Given the description of an element on the screen output the (x, y) to click on. 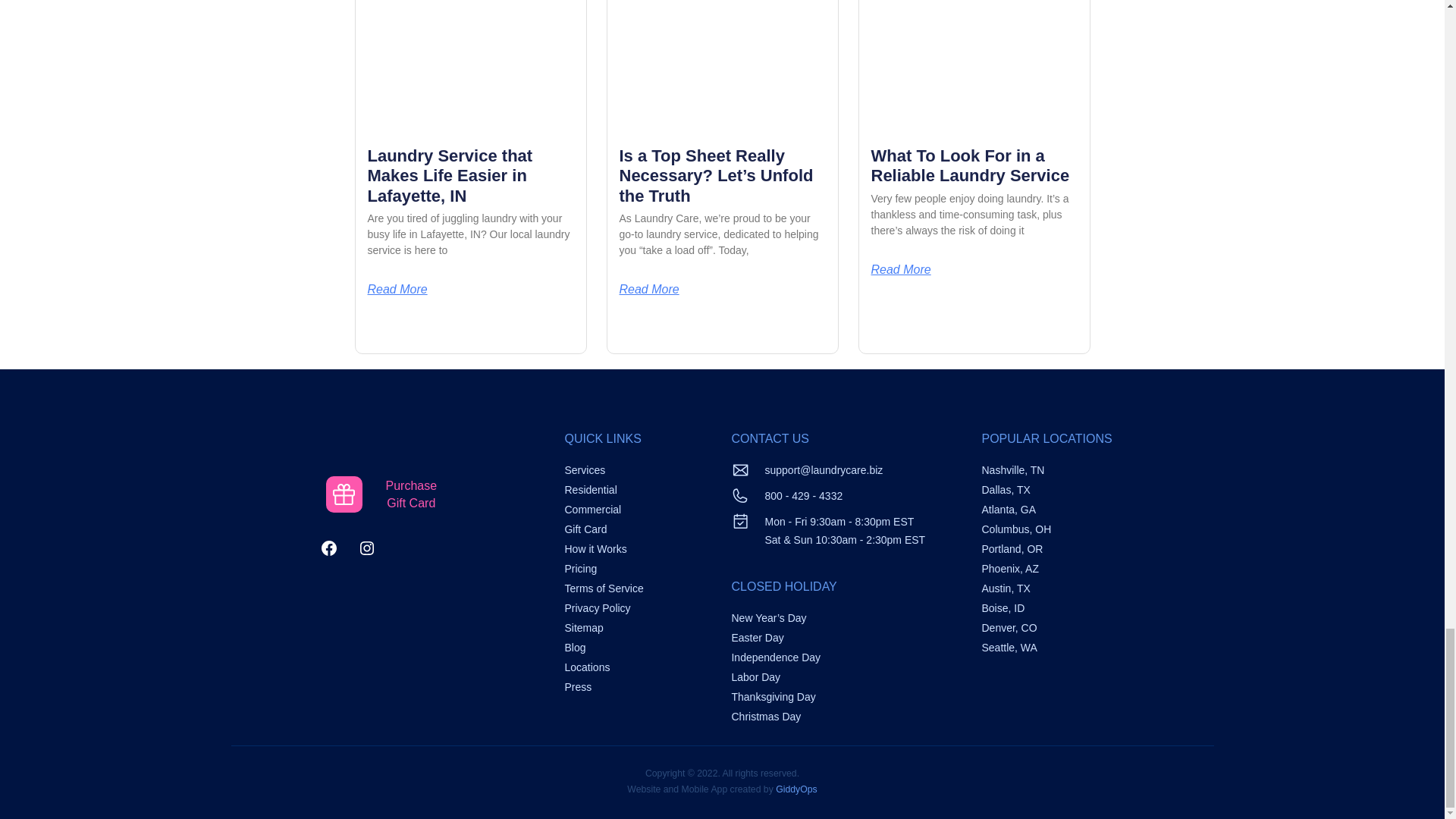
Laundry Service that Makes Life Easier in Lafayette, IN (449, 175)
Residential (589, 490)
Read More (900, 269)
Read More (648, 289)
Services (584, 469)
Read More (381, 494)
What To Look For in a Reliable Laundry Service (396, 289)
